Given the description of an element on the screen output the (x, y) to click on. 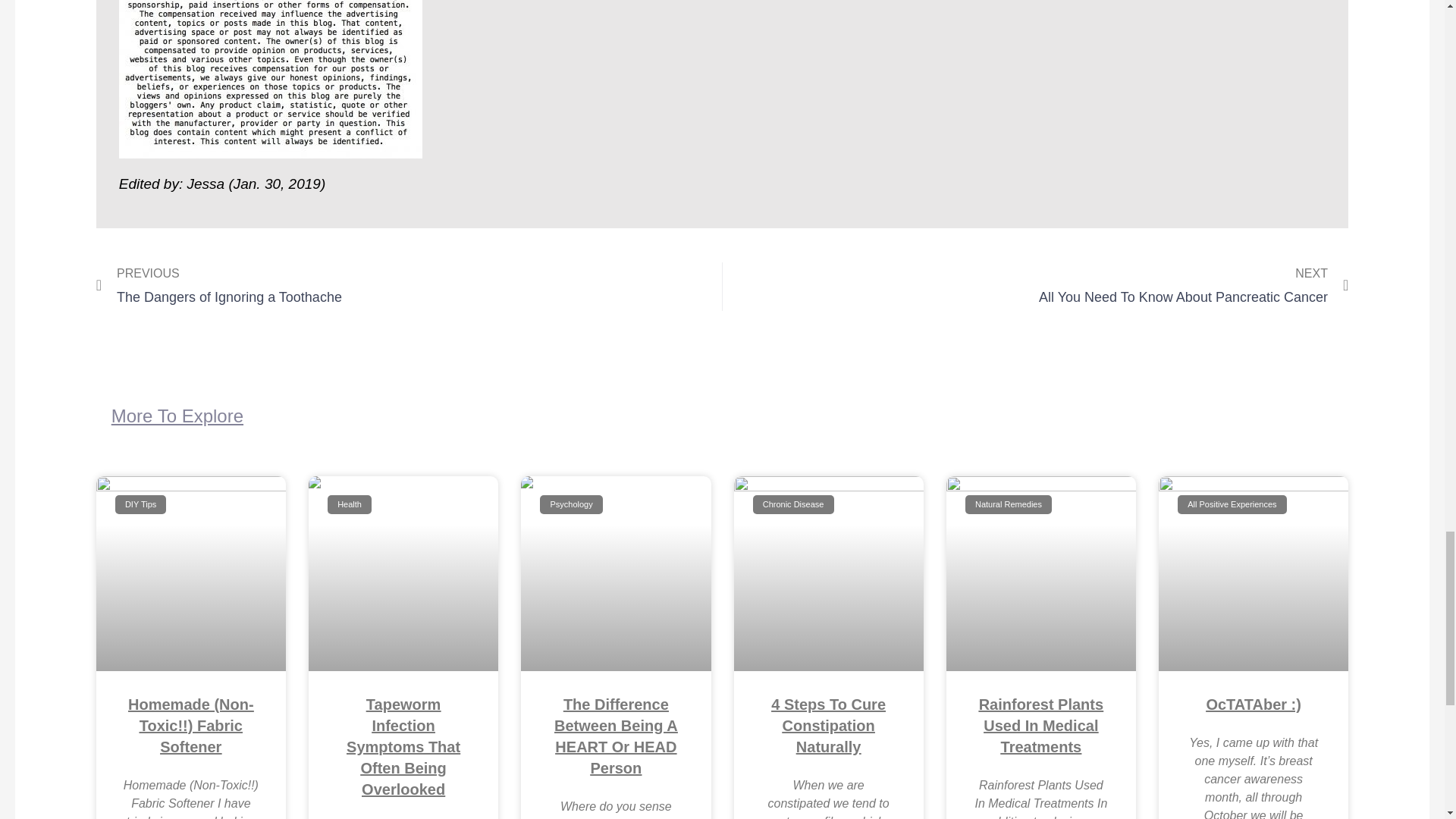
Rainforest Plants Used In Medical Treatments (1040, 725)
The Difference Between Being A HEART Or HEAD Person (616, 736)
4 Steps To Cure Constipation Naturally (828, 725)
Tapeworm Infection Symptoms That Often Being Overlooked (409, 286)
